Given the description of an element on the screen output the (x, y) to click on. 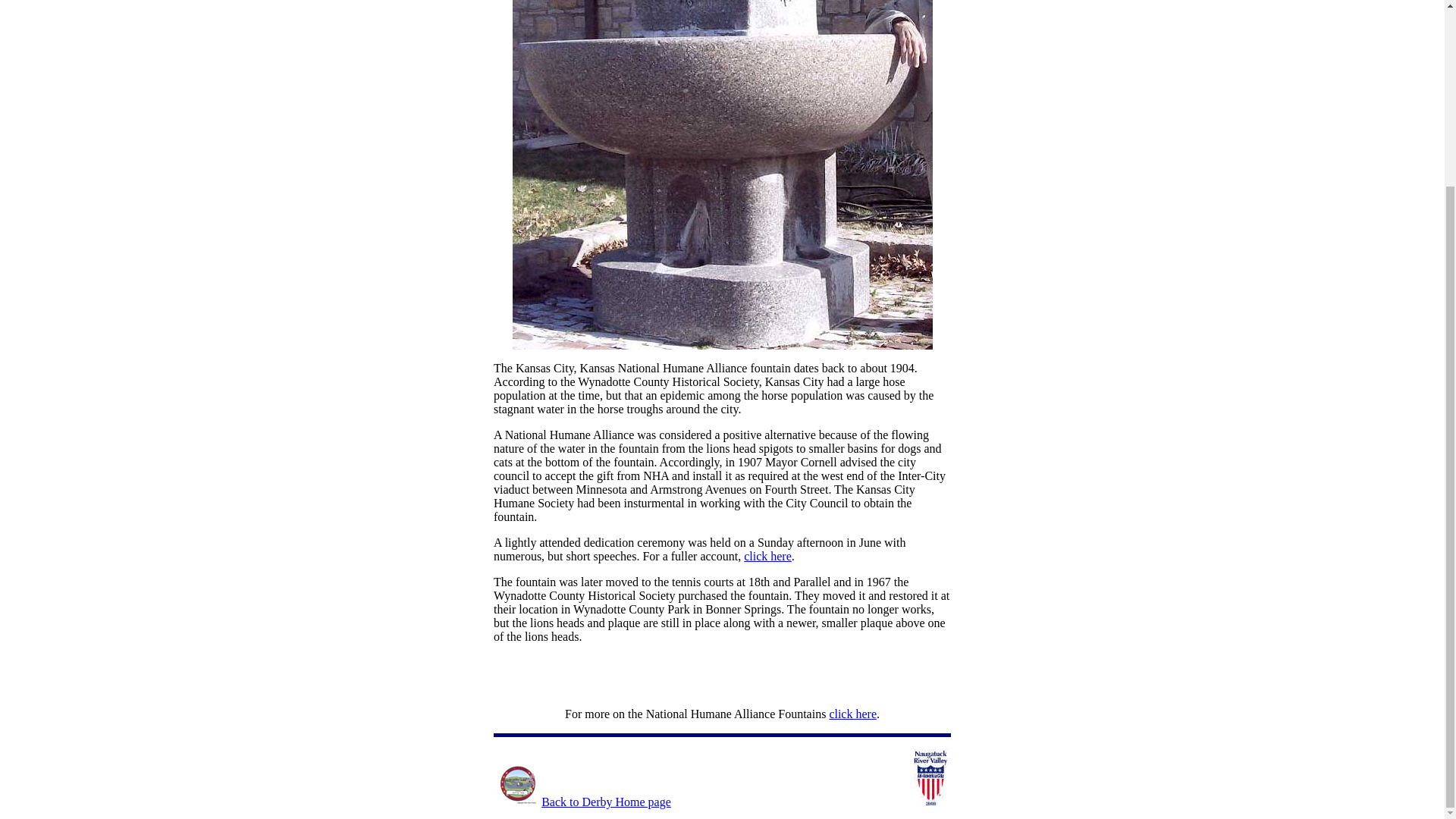
click here (768, 555)
click here (852, 713)
Back to Derby Home page (606, 801)
